Given the description of an element on the screen output the (x, y) to click on. 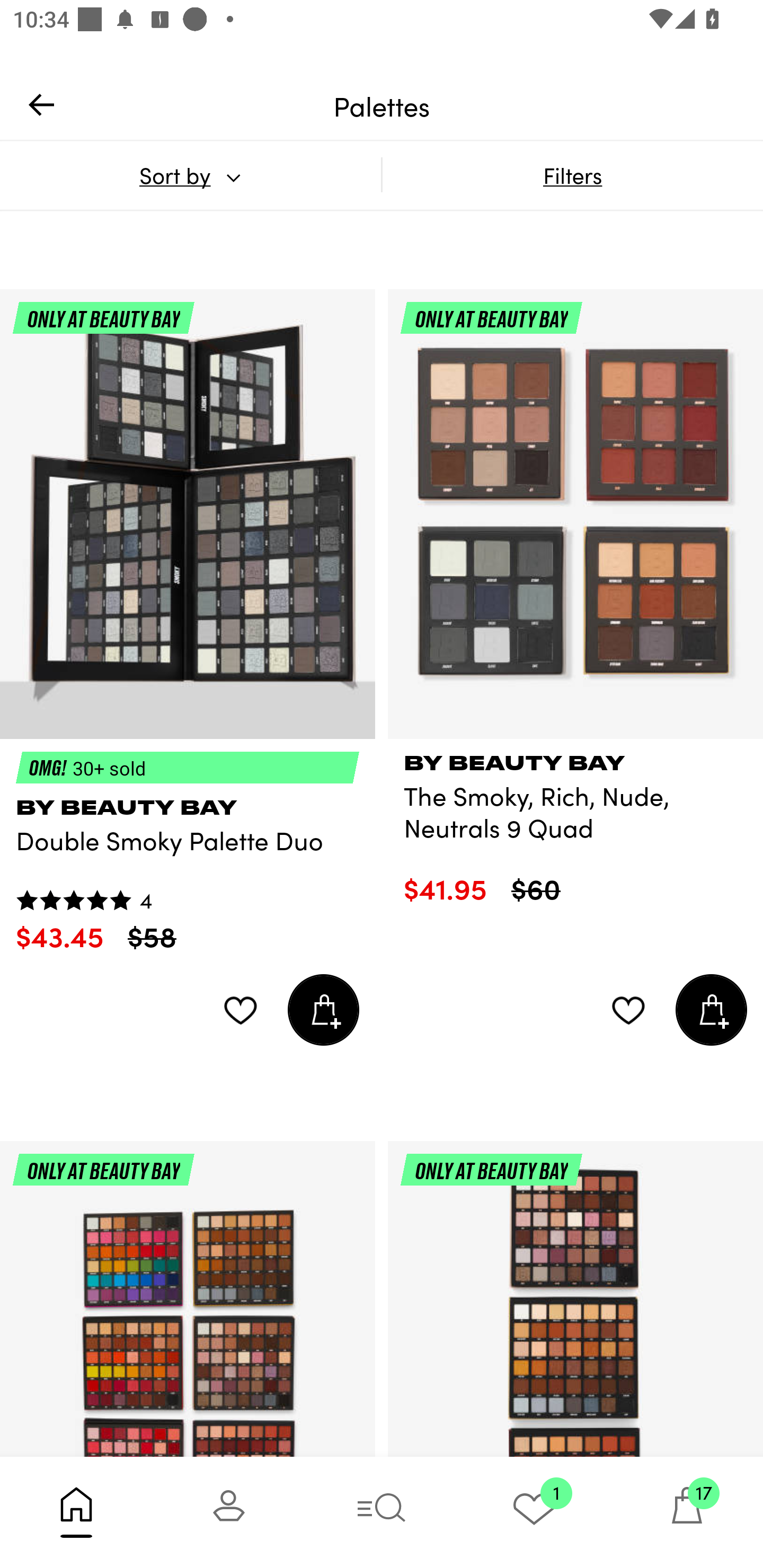
Sort by (190, 174)
Filters (572, 174)
1 (533, 1512)
17 (686, 1512)
